Given the description of an element on the screen output the (x, y) to click on. 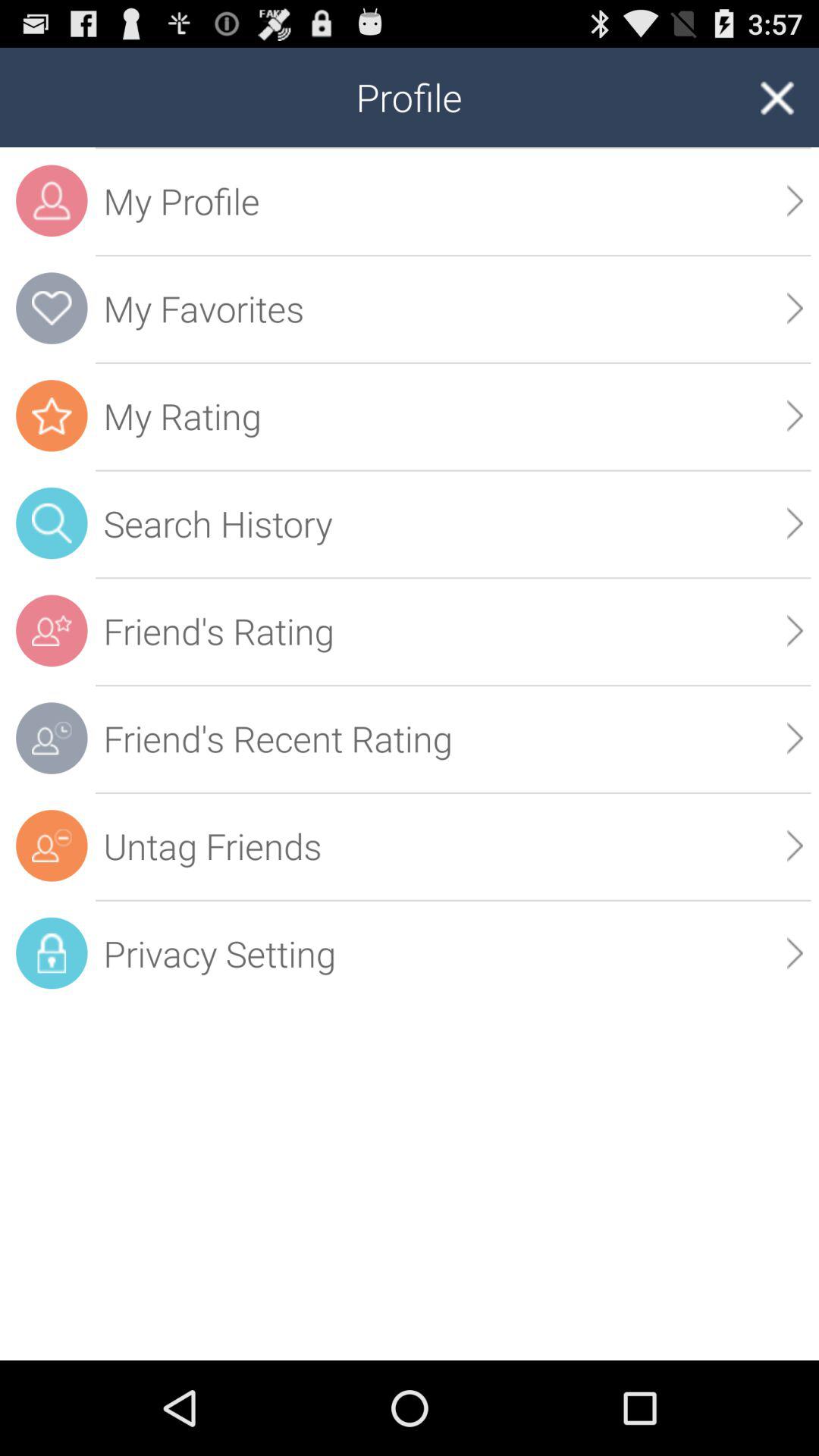
choose the app above the my favorites (453, 200)
